Given the description of an element on the screen output the (x, y) to click on. 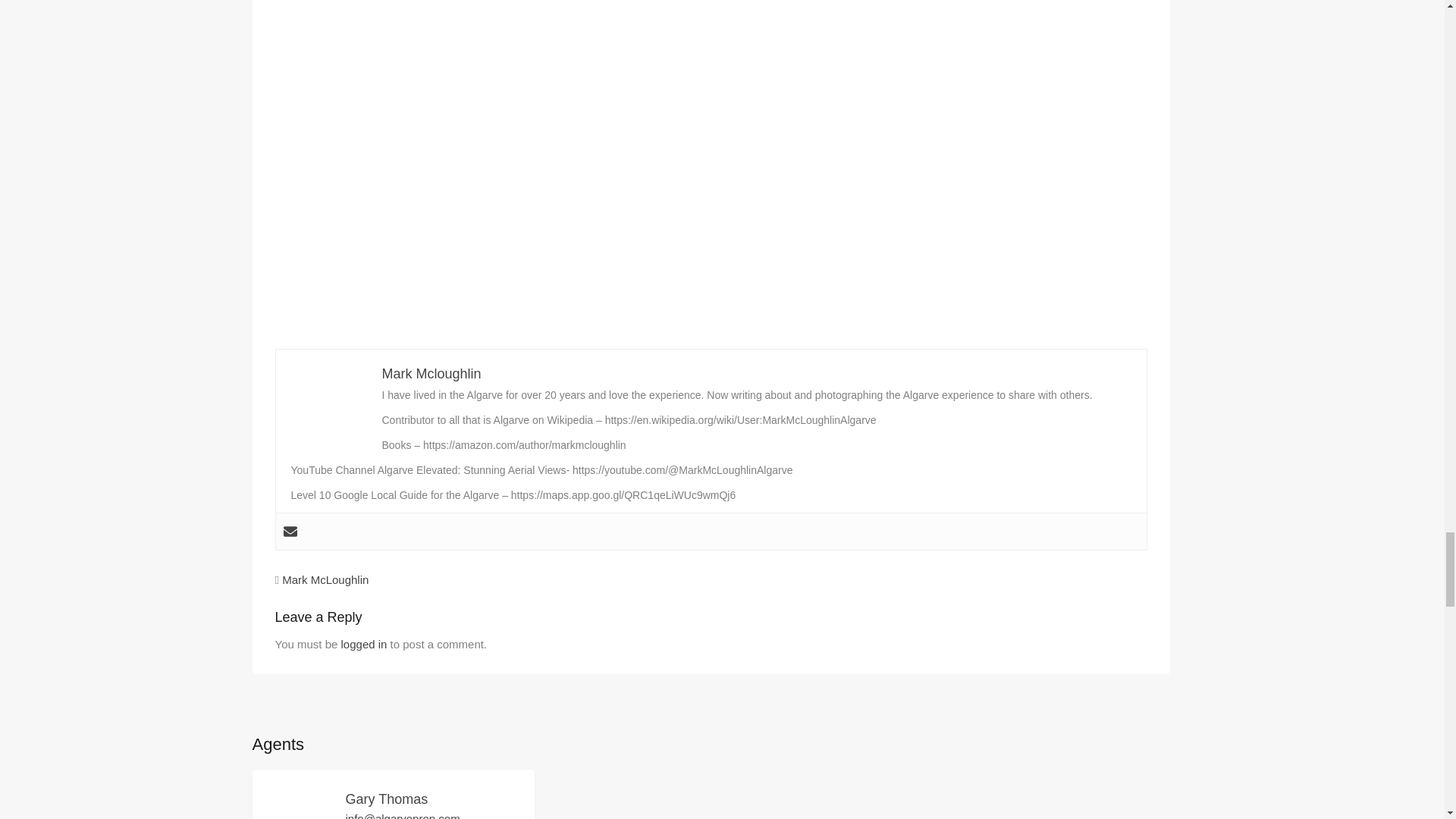
User email (290, 531)
